Given the description of an element on the screen output the (x, y) to click on. 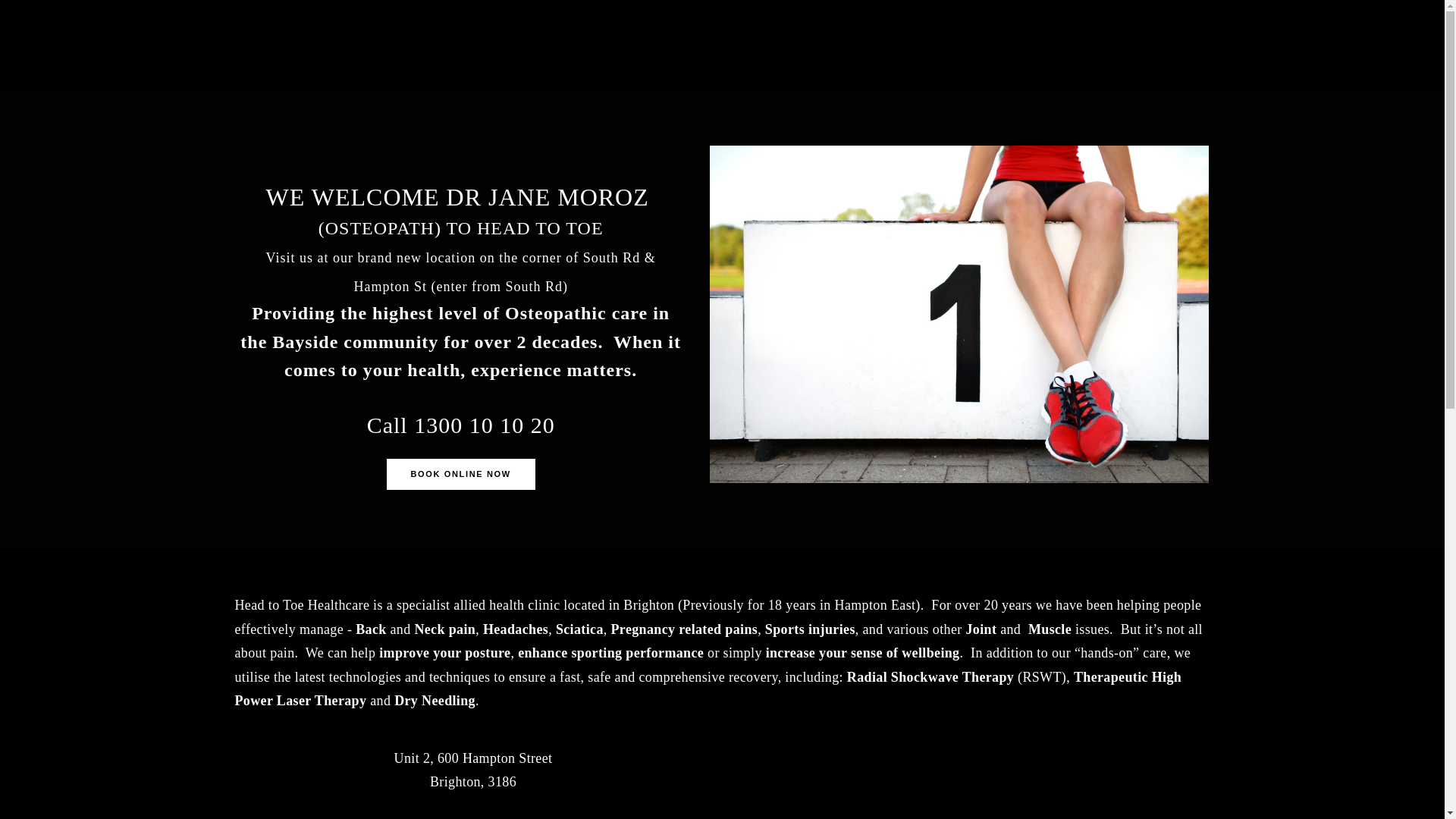
BOOK ONLINE NOW Element type: text (460, 473)
